Given the description of an element on the screen output the (x, y) to click on. 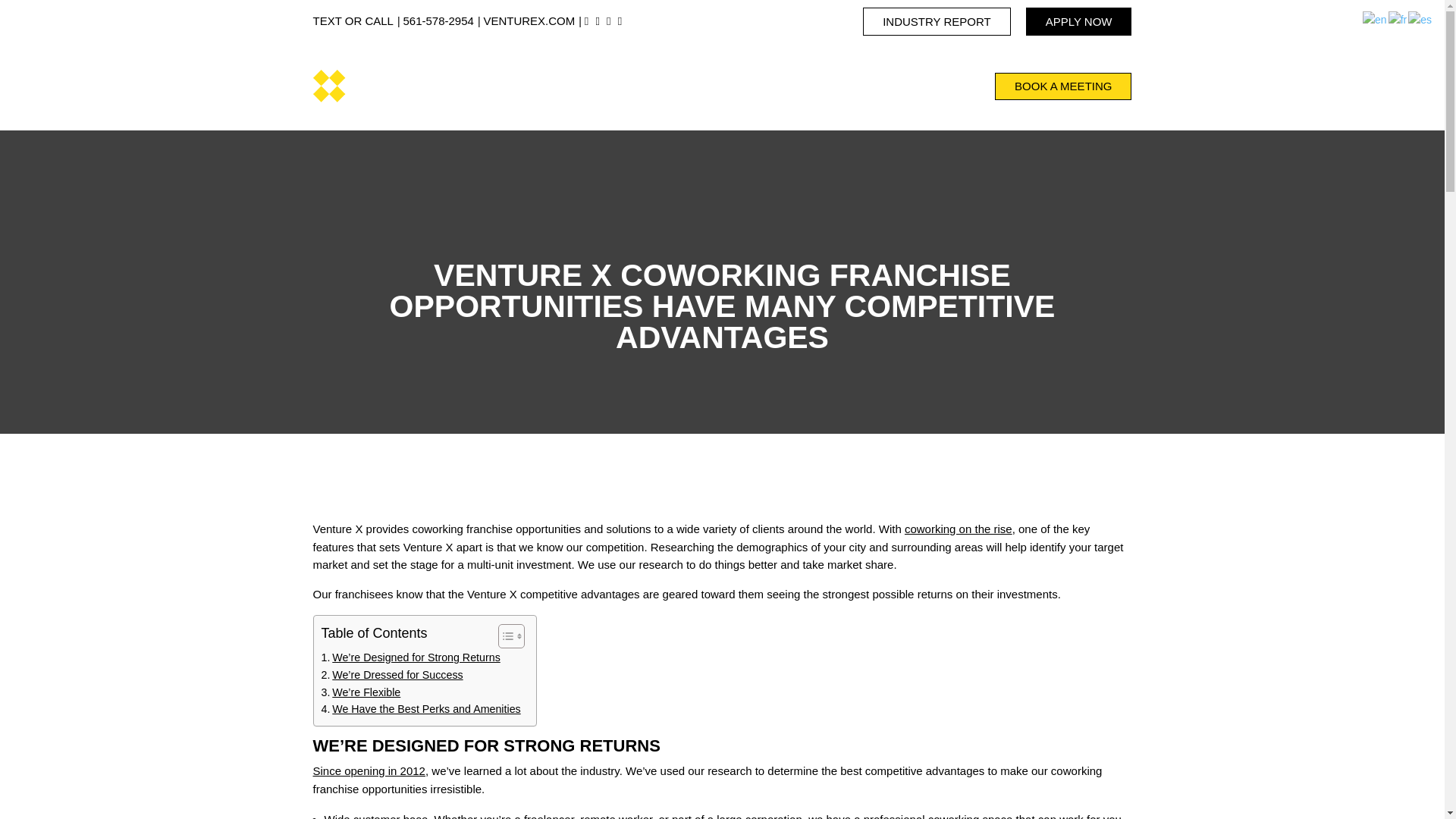
561-578-2954 (438, 20)
We Have the Best Perks and Amenities (421, 709)
Target Markets (764, 90)
Spanish (1419, 19)
APPLY NOW (1079, 21)
VENTUREX.COM (529, 20)
About Us (520, 90)
INDUSTRY REPORT (936, 21)
Why Venture X (590, 90)
French (1399, 19)
